Given the description of an element on the screen output the (x, y) to click on. 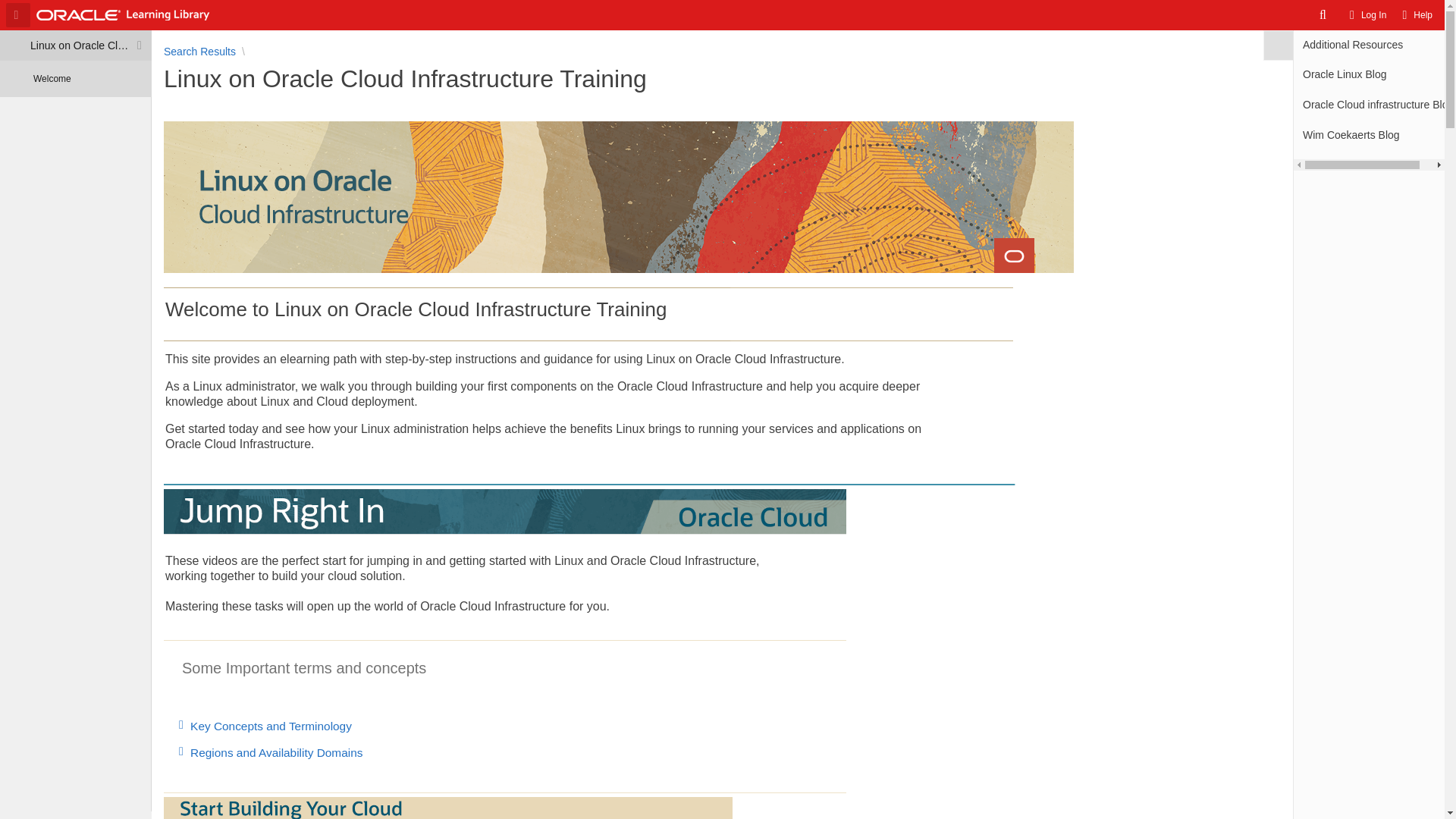
Link (183, 751)
Key Concepts and Terminology (722, 726)
Log In (1367, 15)
Regions and Availability Domains (722, 752)
oll content (722, 726)
Link (183, 725)
Welcome (52, 78)
oll content (722, 752)
Help (1414, 15)
Search Results (199, 51)
Search OLL Content (1324, 15)
